Given the description of an element on the screen output the (x, y) to click on. 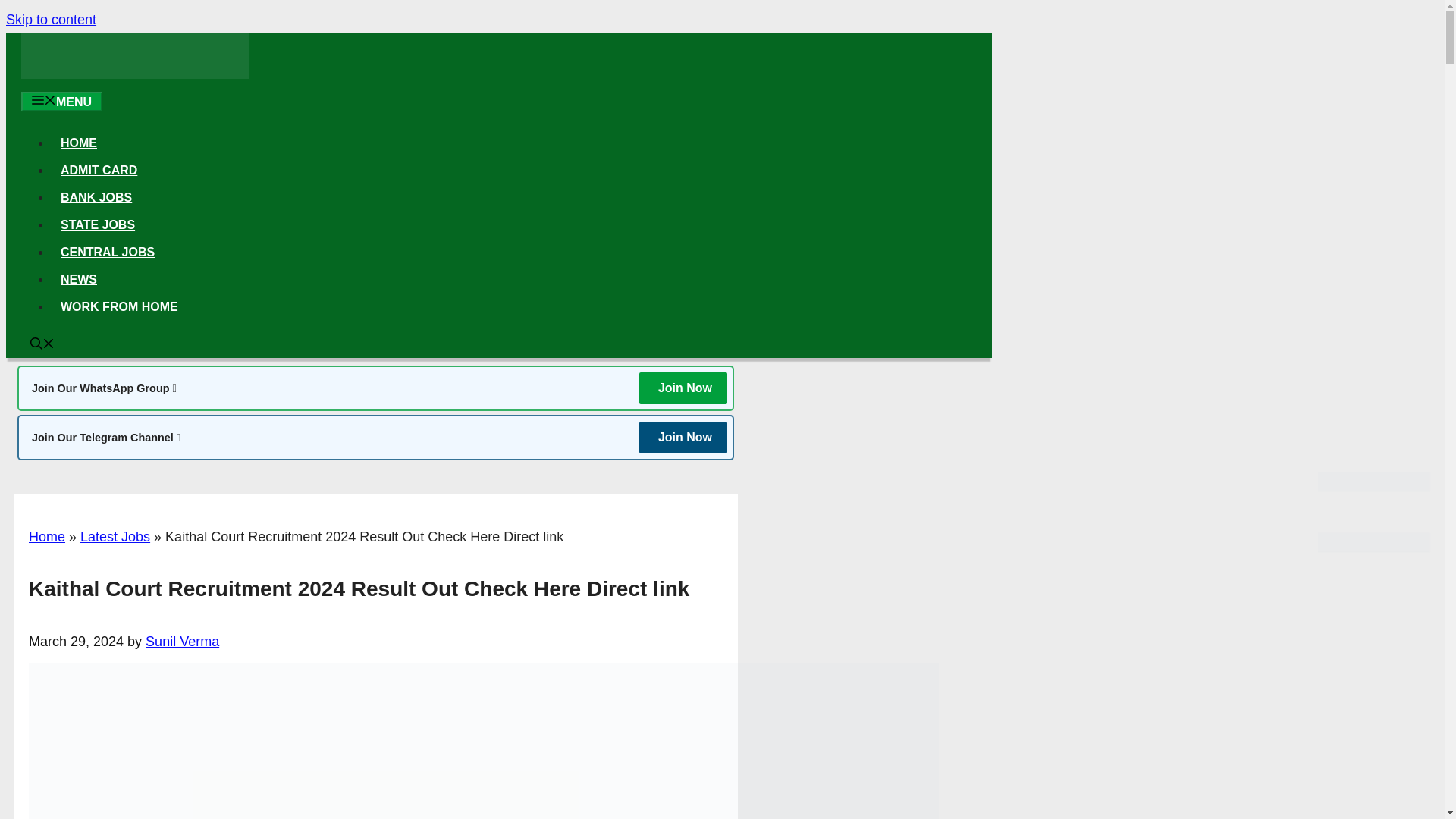
ADMIT CARD (98, 169)
MENU (61, 101)
Skip to content (50, 19)
WORK FROM HOME (118, 306)
CENTRAL JOBS (106, 251)
Join Now (682, 388)
Home (47, 536)
HOME (78, 142)
View all posts by Sunil Verma (182, 641)
